Given the description of an element on the screen output the (x, y) to click on. 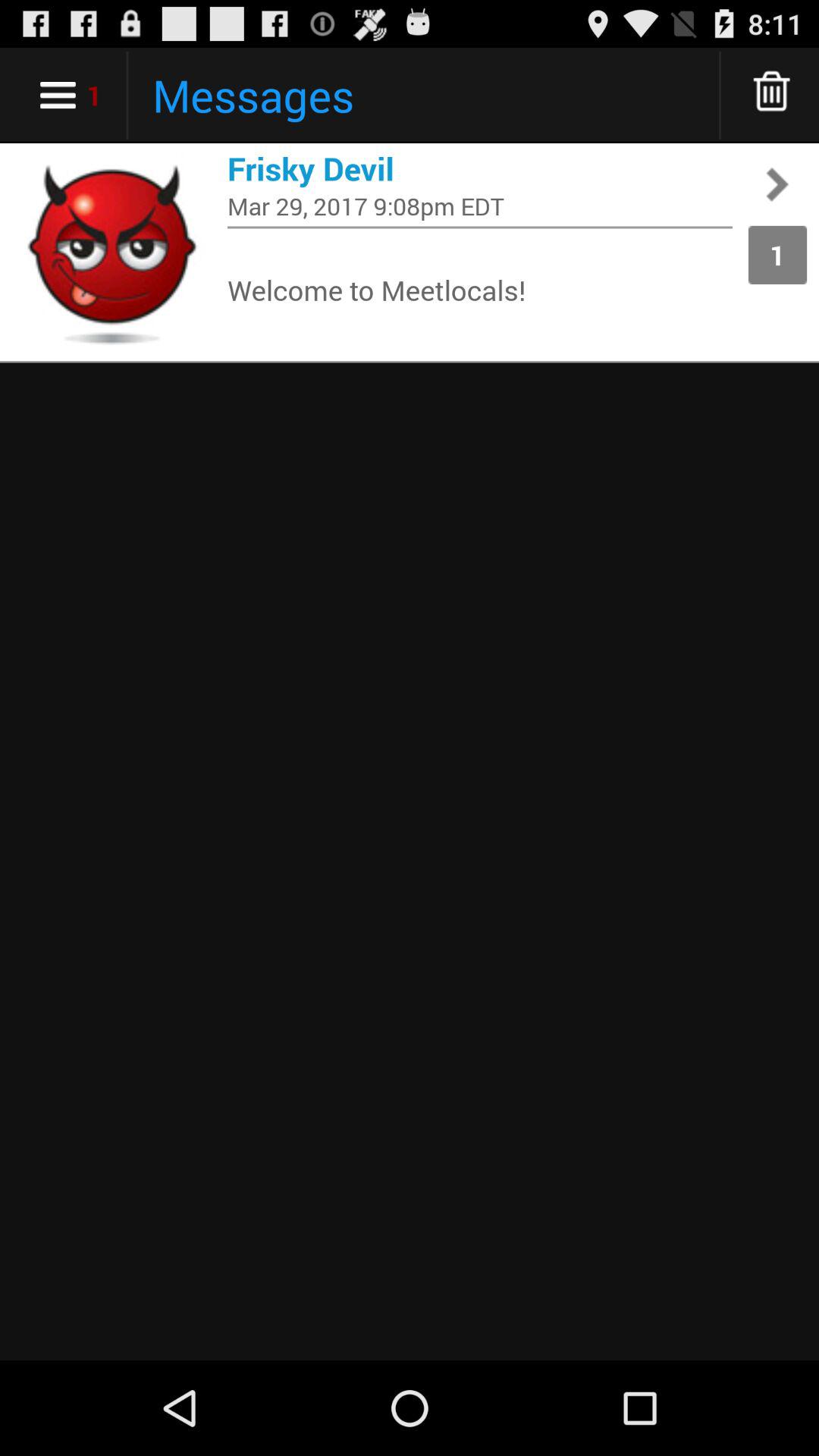
press the item next to 1 (479, 289)
